Given the description of an element on the screen output the (x, y) to click on. 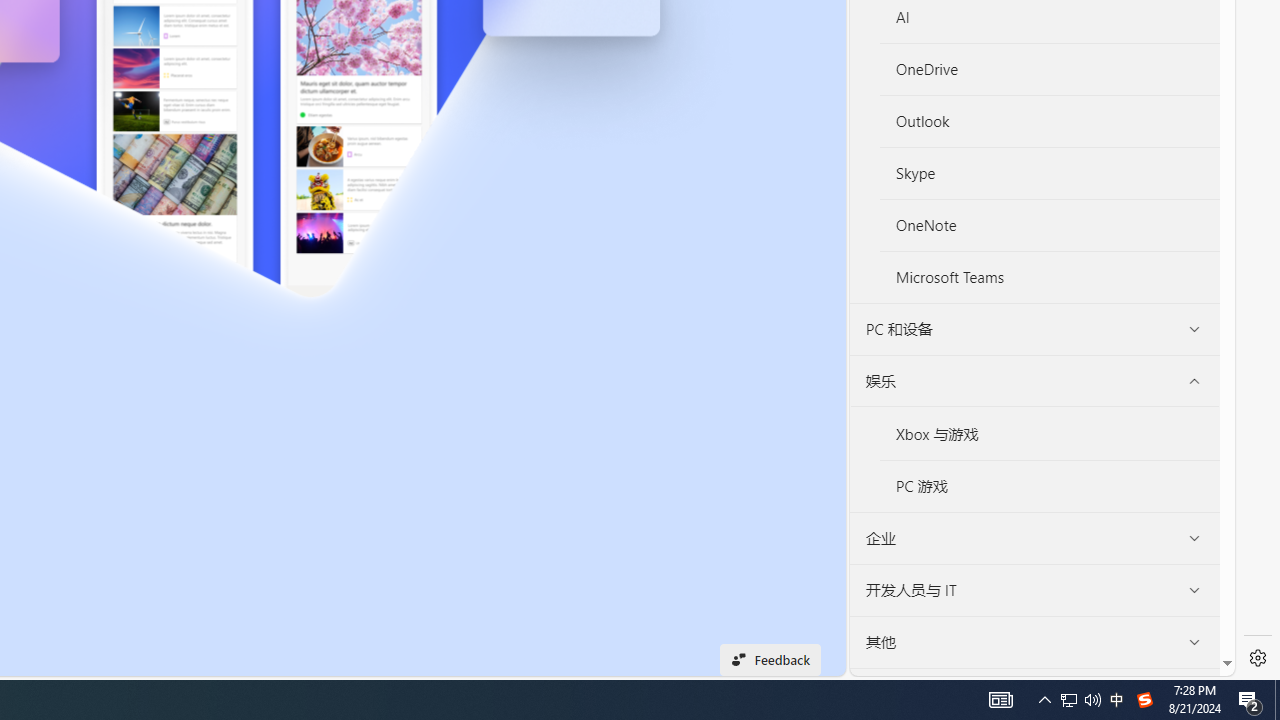
OneDrive (1049, 69)
OneNote (1049, 225)
OneDrive (1049, 69)
